Given the description of an element on the screen output the (x, y) to click on. 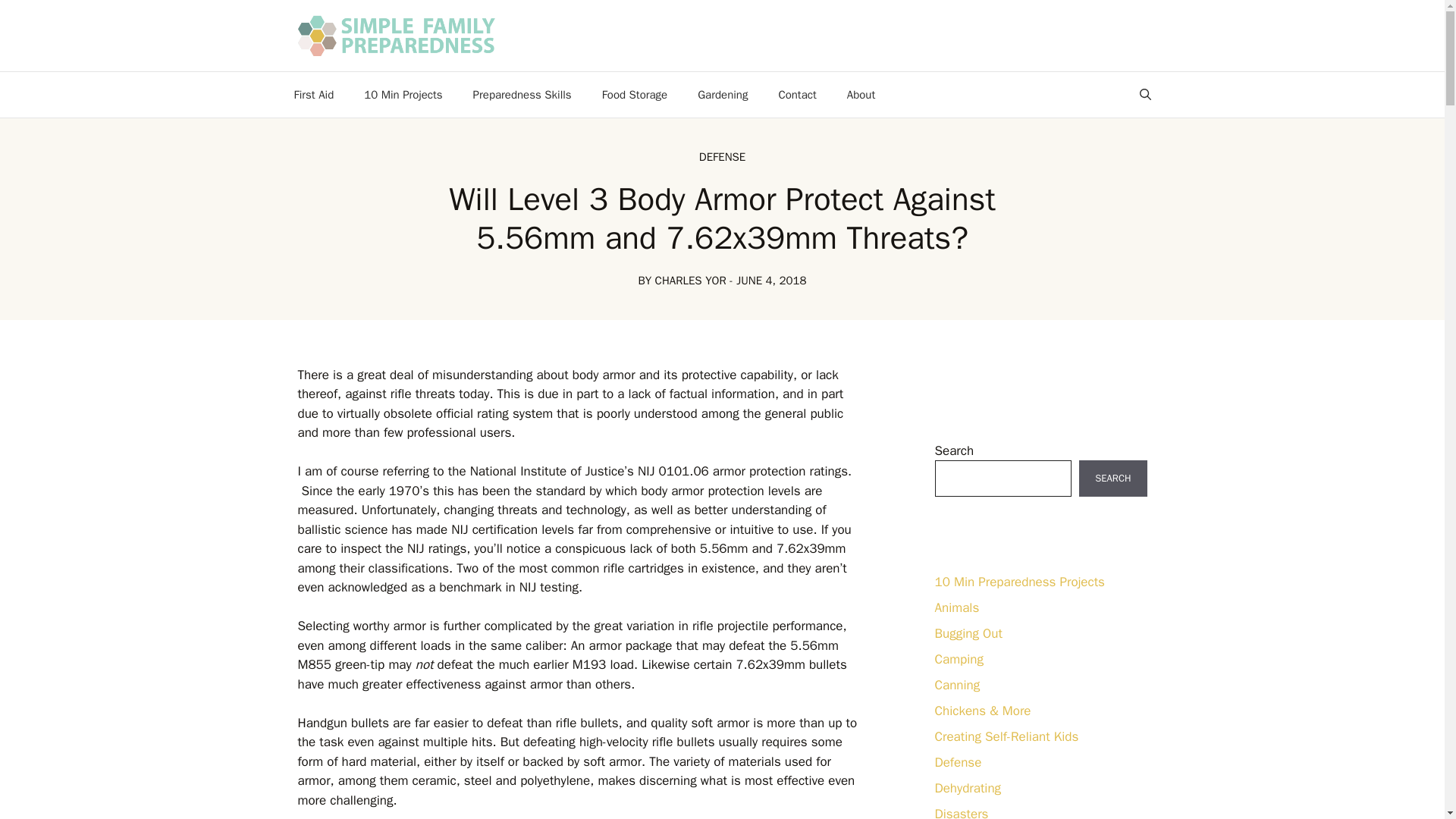
First Aid (314, 94)
Animals (956, 607)
Bugging Out (967, 633)
10 Min Projects (403, 94)
About (860, 94)
Food Storage (634, 94)
Gardening (722, 94)
Preparedness Skills (522, 94)
10 Min Preparedness Projects (1018, 581)
Camping (959, 659)
